Given the description of an element on the screen output the (x, y) to click on. 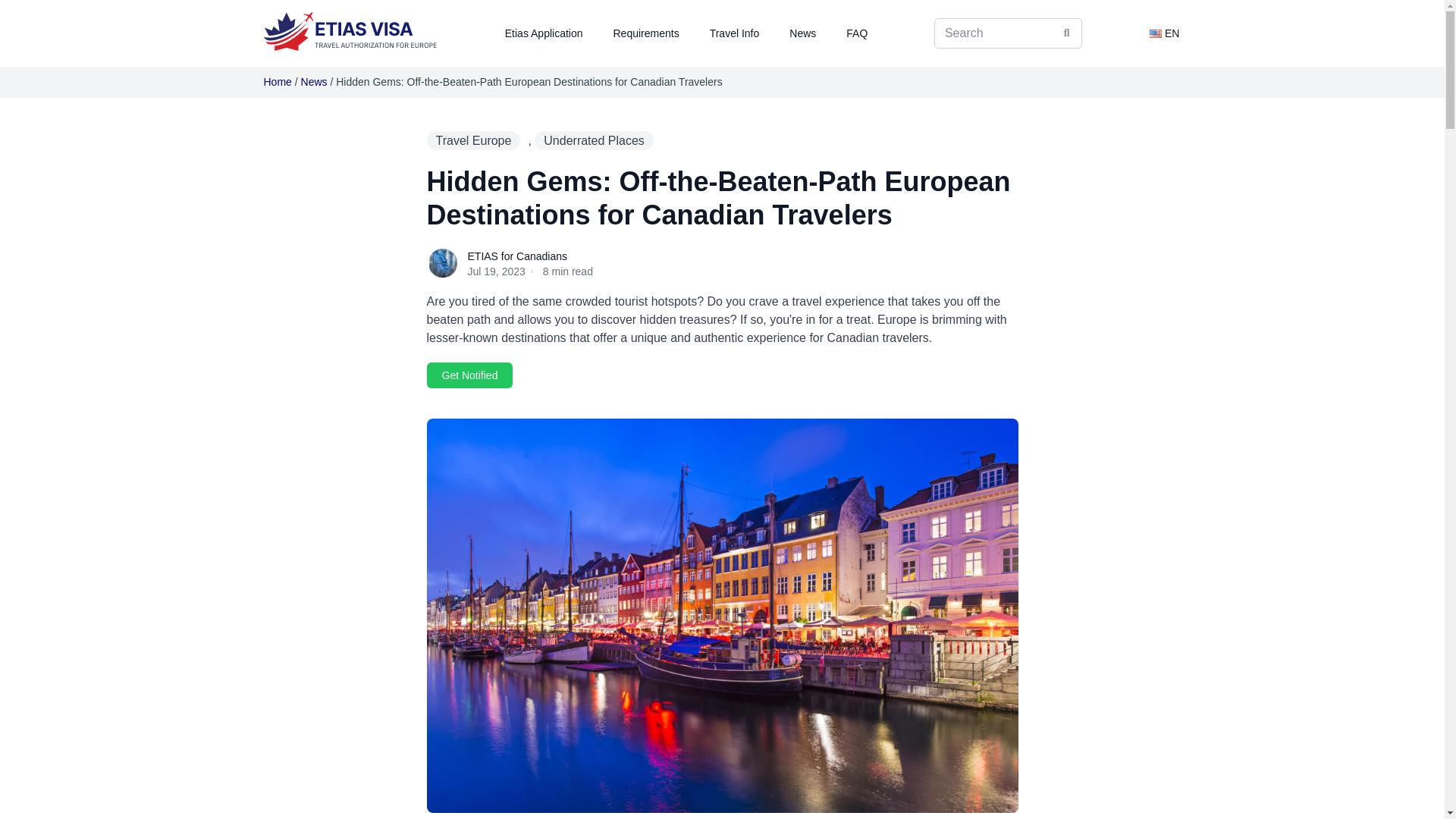
Get Notified (469, 375)
News (314, 81)
News (802, 32)
Etias Application (544, 32)
Travel Europe (472, 140)
FAQ (856, 32)
Travel Info (735, 32)
Home (277, 81)
Requirements (645, 32)
EN (1164, 32)
Underrated Places (593, 140)
